Given the description of an element on the screen output the (x, y) to click on. 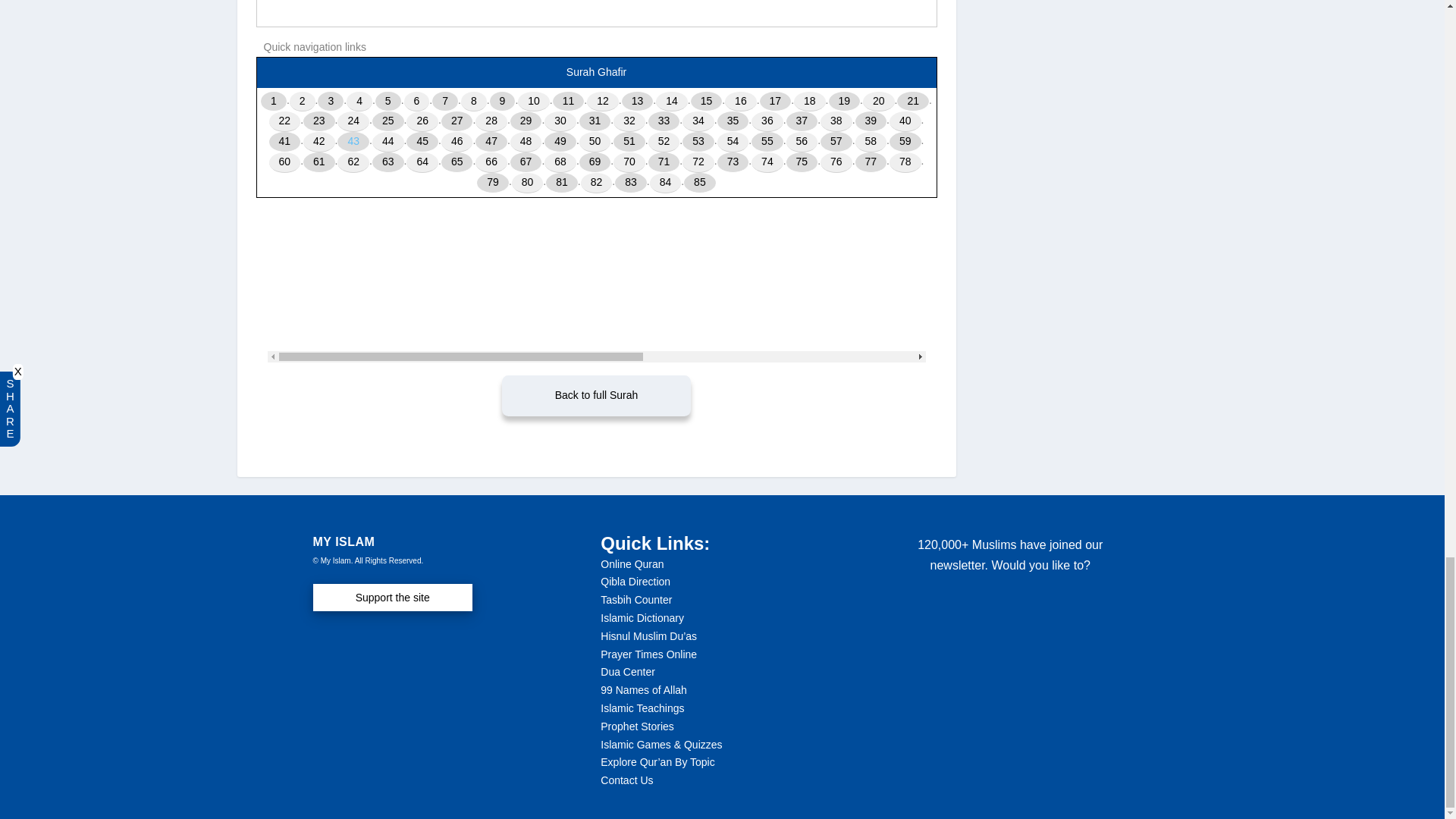
9 (502, 101)
4 (359, 101)
7 (445, 101)
3 (330, 101)
1 (273, 101)
11 (569, 101)
2 (302, 101)
6 (416, 101)
10 (534, 101)
8 (473, 101)
